Given the description of an element on the screen output the (x, y) to click on. 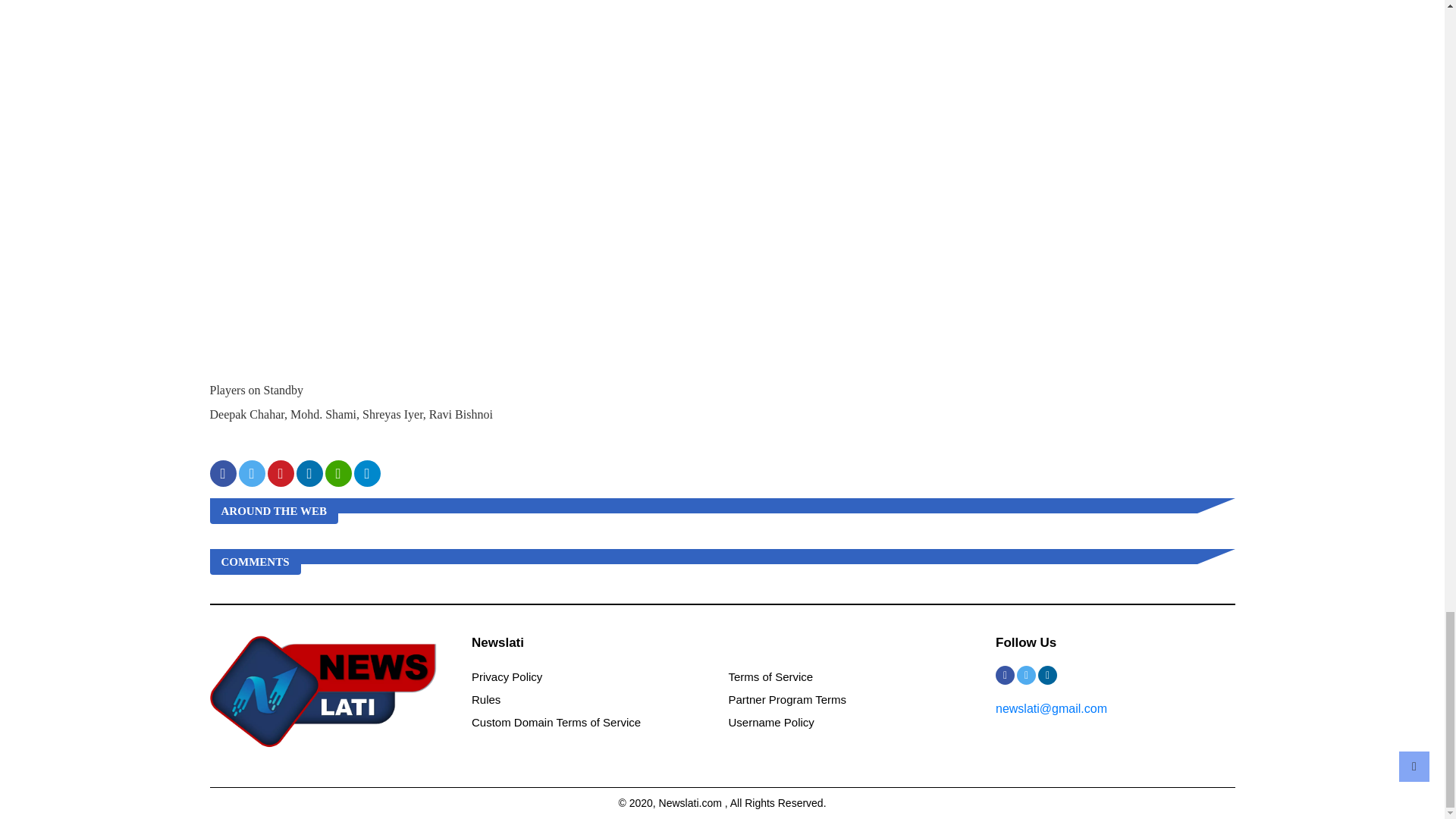
Twitter (1025, 674)
Facebook (1004, 674)
Linkedin (1047, 674)
